Given the description of an element on the screen output the (x, y) to click on. 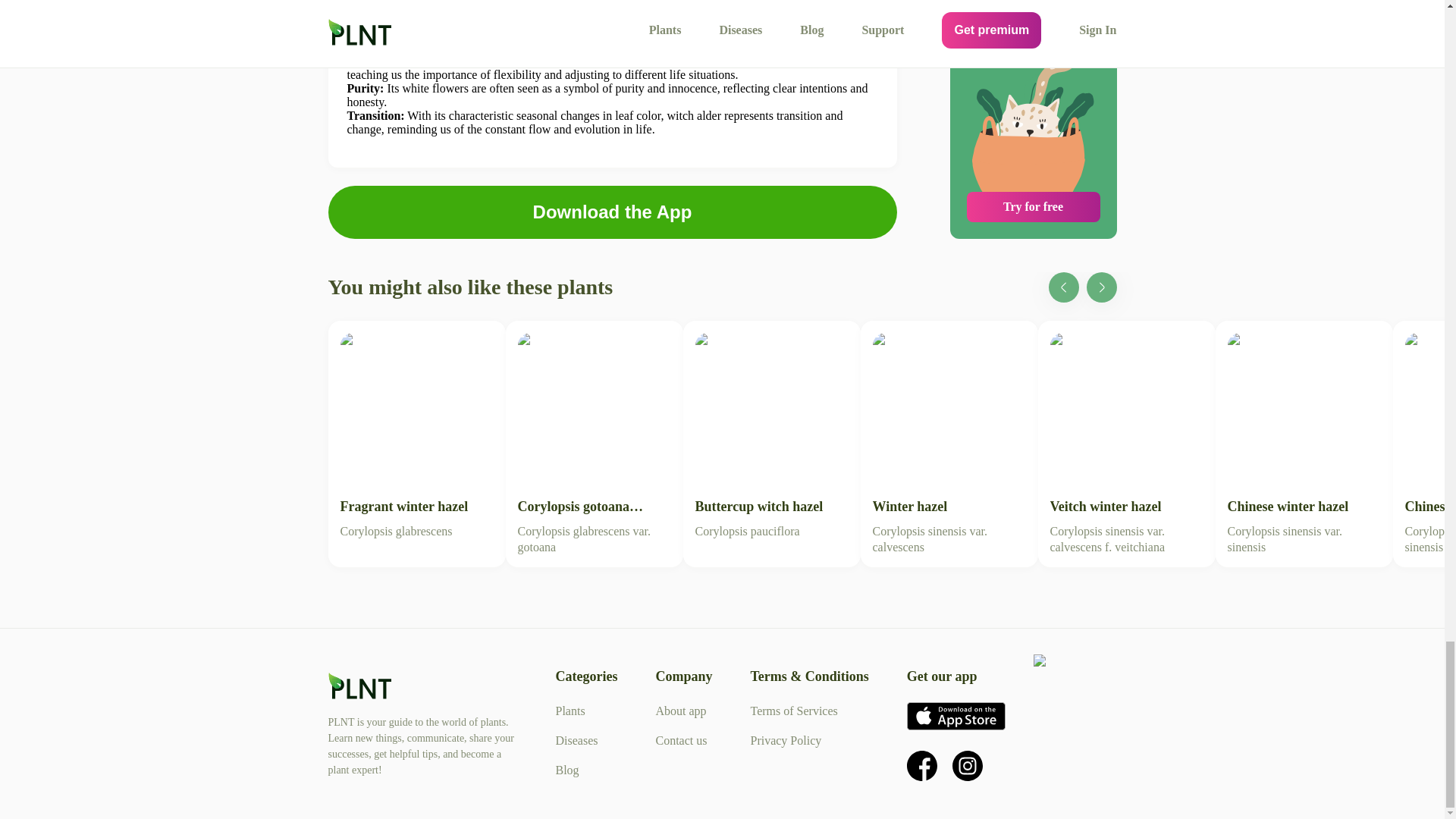
Contact us (680, 739)
Download the App (611, 212)
Download the App (611, 212)
Plants (569, 710)
Terms of Services (793, 710)
Diseases (575, 739)
Blog (566, 769)
About app (680, 710)
Privacy Policy (785, 739)
